Given the description of an element on the screen output the (x, y) to click on. 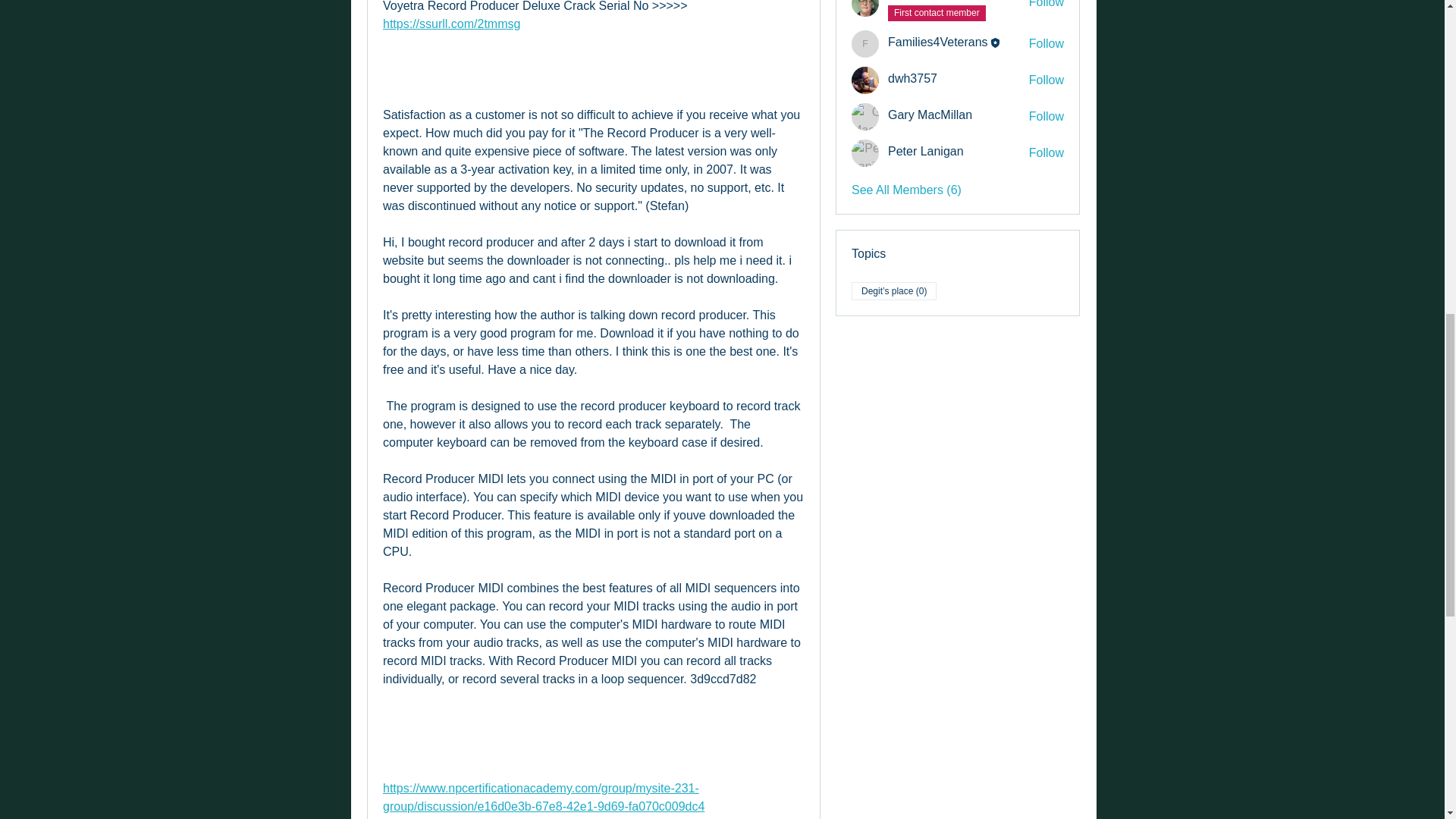
Derek Davies (865, 8)
Peter Lanigan (865, 153)
dwh3757 (865, 80)
Families4Veterans  (865, 43)
Gary MacMillan (865, 116)
